Given the description of an element on the screen output the (x, y) to click on. 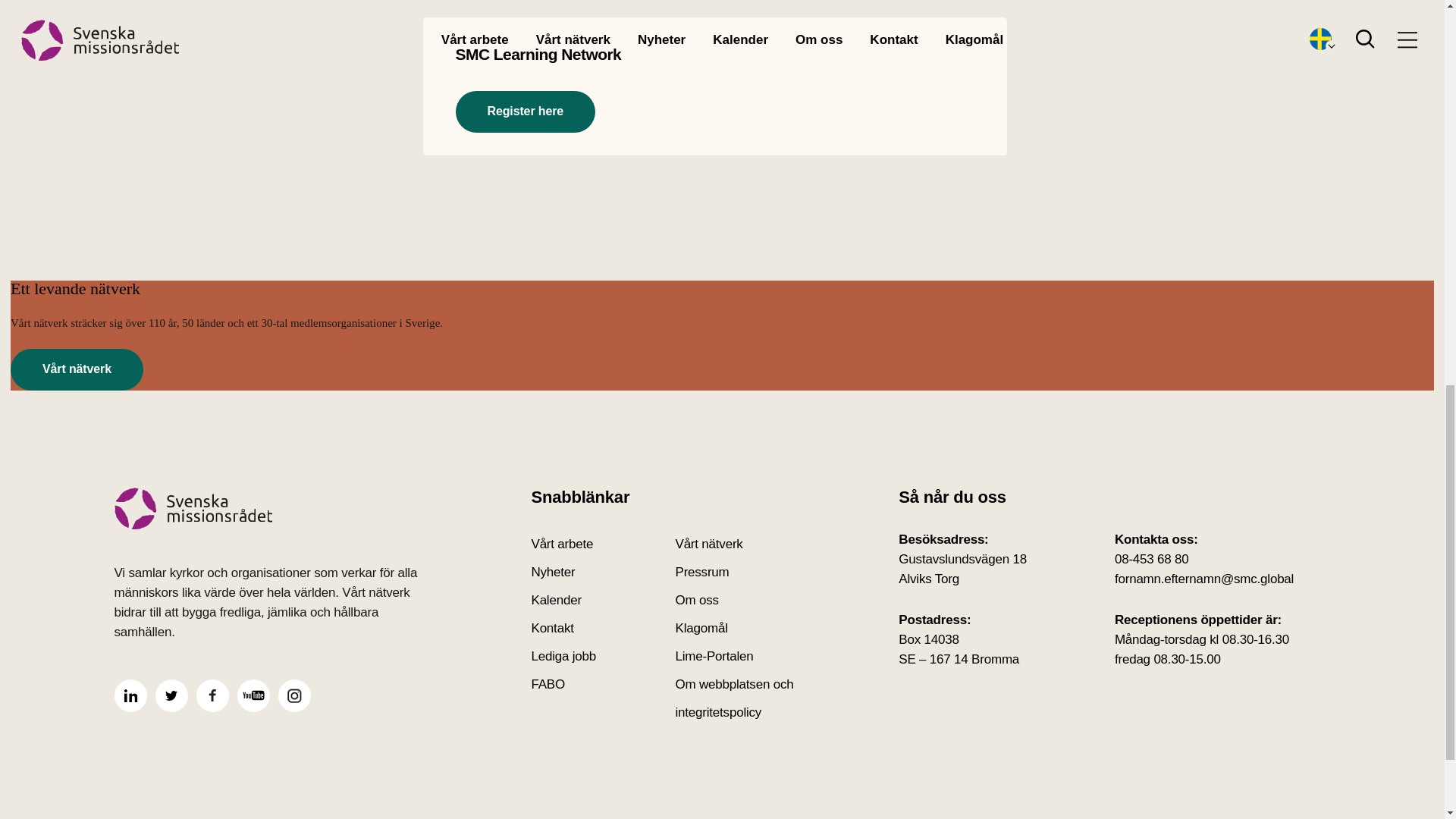
Lime-Portalen (746, 656)
Kalender (603, 600)
Om oss (746, 600)
Kontakt (603, 628)
Om webbplatsen och integritetspolicy (746, 698)
Lediga jobb (603, 656)
FABO (603, 698)
Nyheter (603, 571)
Pressrum (746, 571)
